Given the description of an element on the screen output the (x, y) to click on. 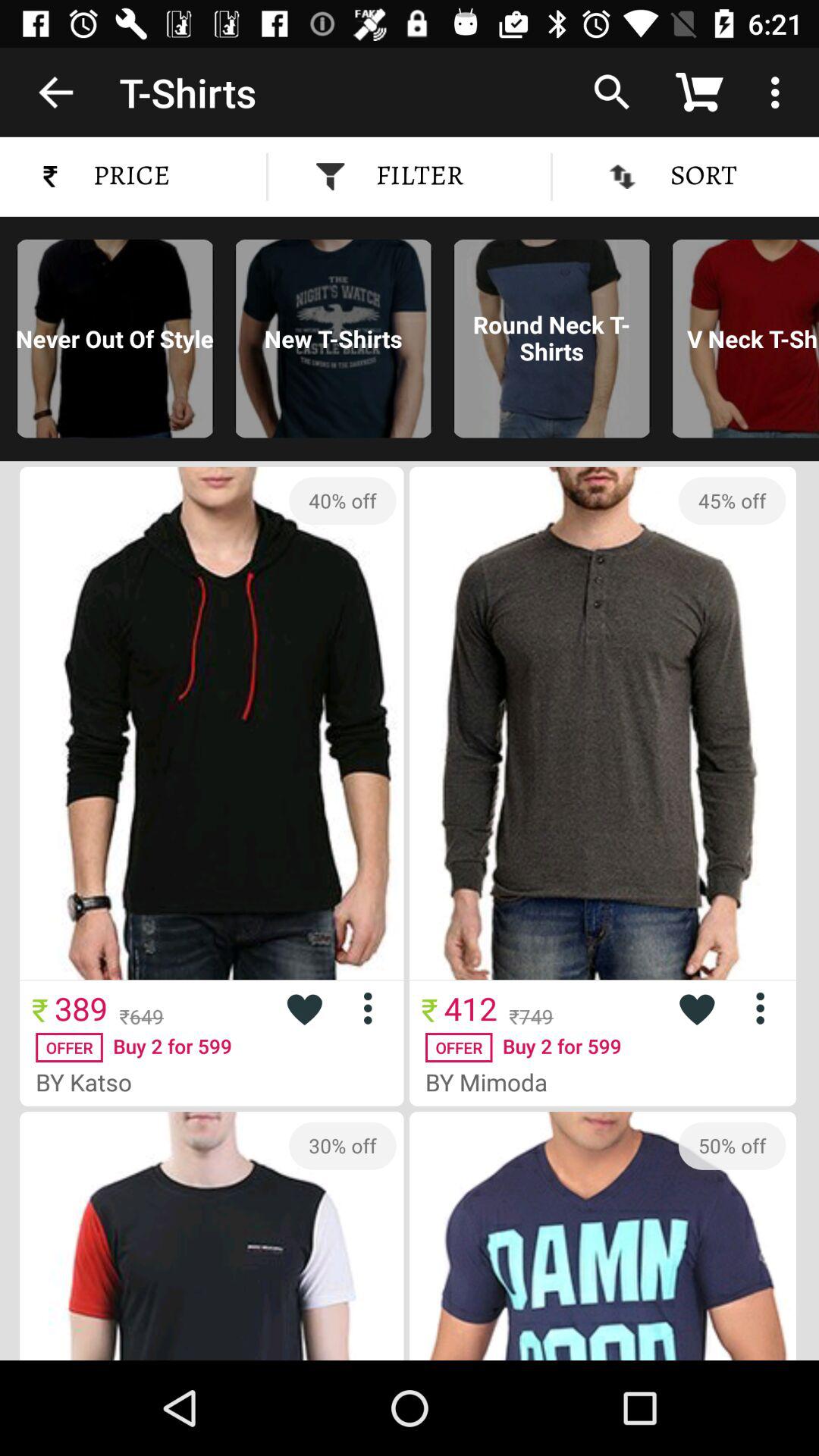
toggle like option (304, 1008)
